Given the description of an element on the screen output the (x, y) to click on. 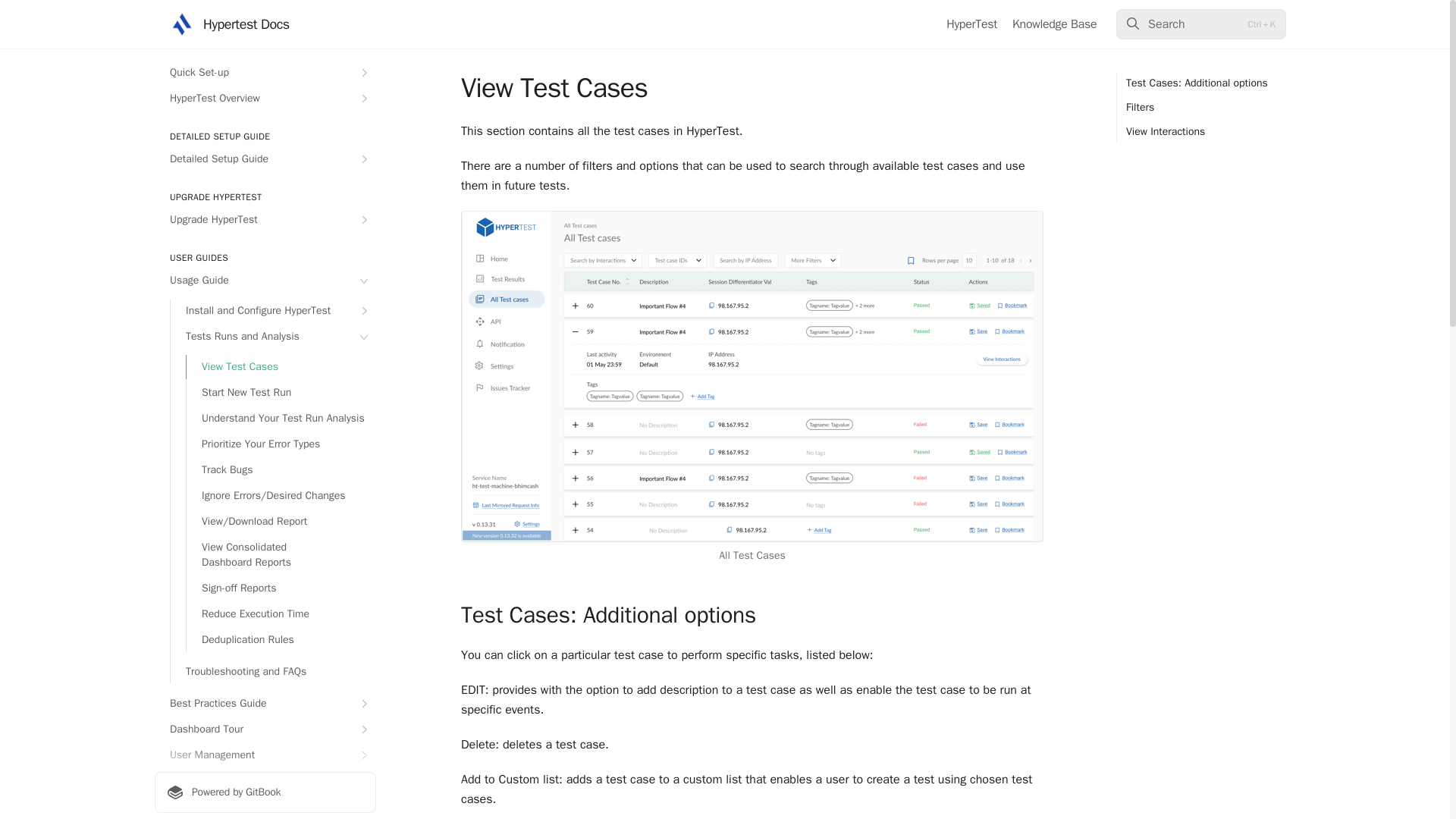
HyperTest Overview (264, 98)
Knowledge Base (1053, 24)
Detailed Setup Guide (264, 159)
Hypertest Docs (229, 24)
Quick Set-up (264, 72)
HyperTest (971, 24)
